Given the description of an element on the screen output the (x, y) to click on. 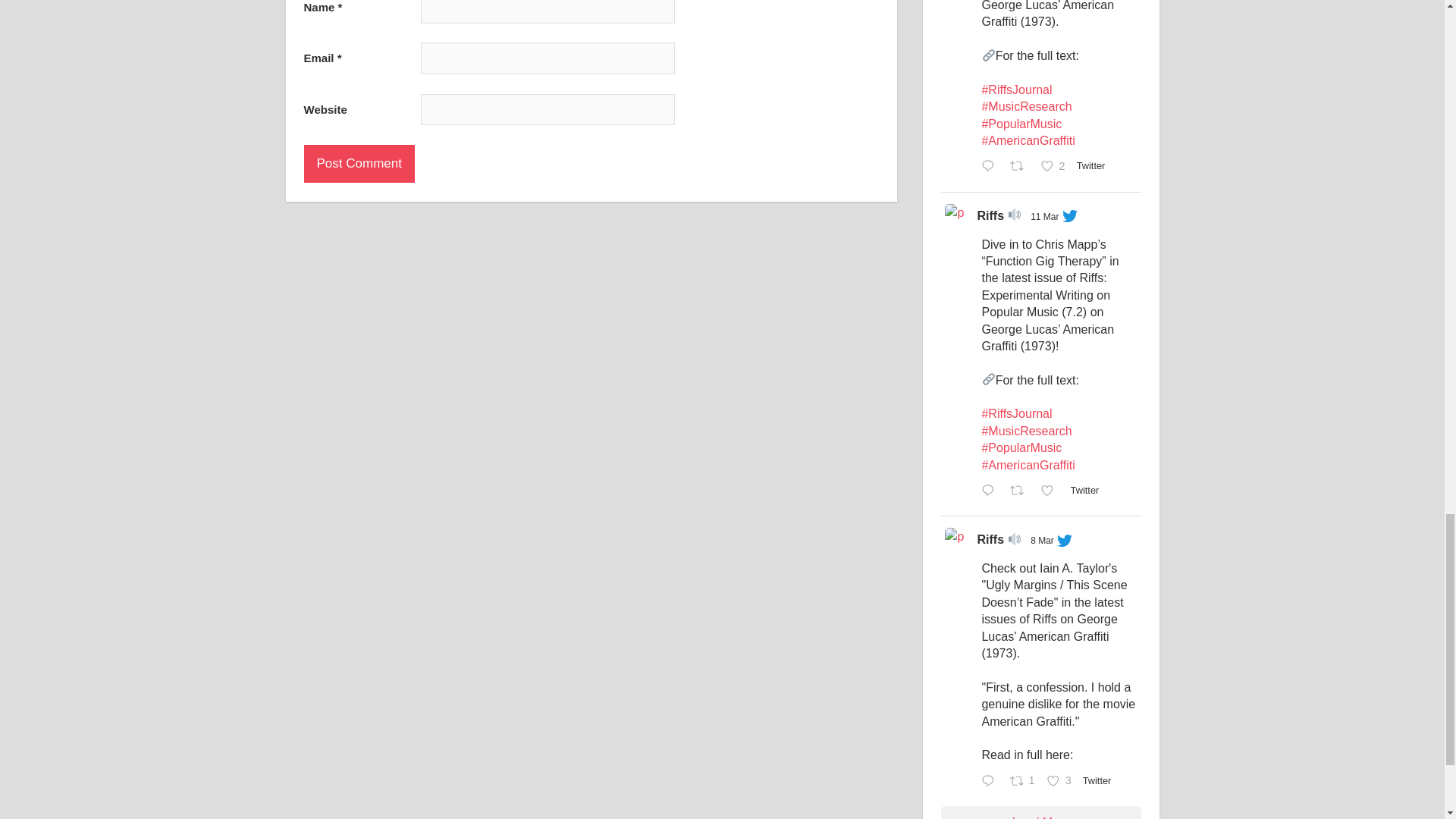
Post Comment (357, 163)
